Given the description of an element on the screen output the (x, y) to click on. 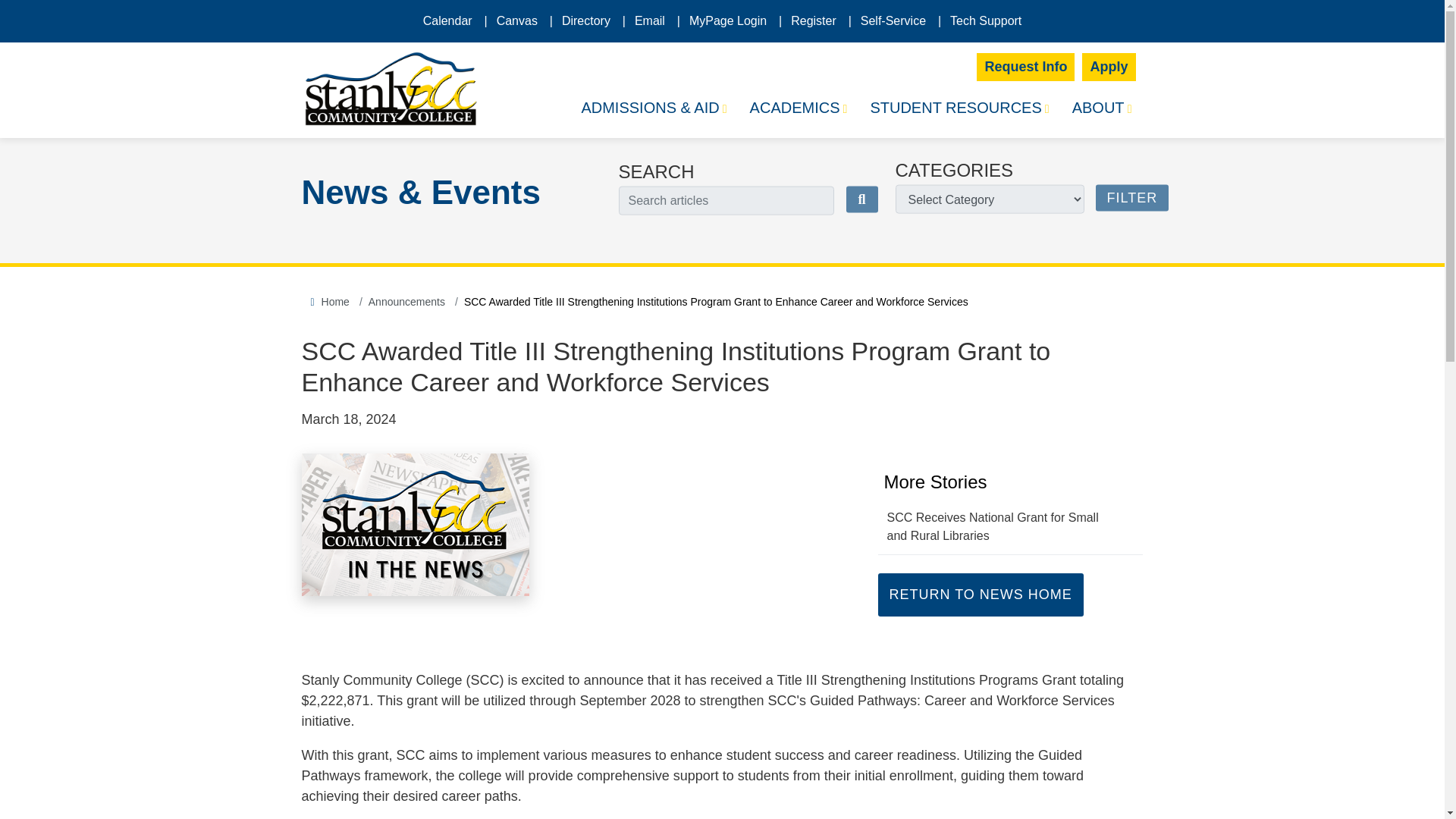
STUDENT RESOURCES (959, 109)
Filter (1131, 198)
ACADEMICS (798, 109)
searchbox (726, 200)
Request Info (1025, 67)
Apply (1108, 67)
